Given the description of an element on the screen output the (x, y) to click on. 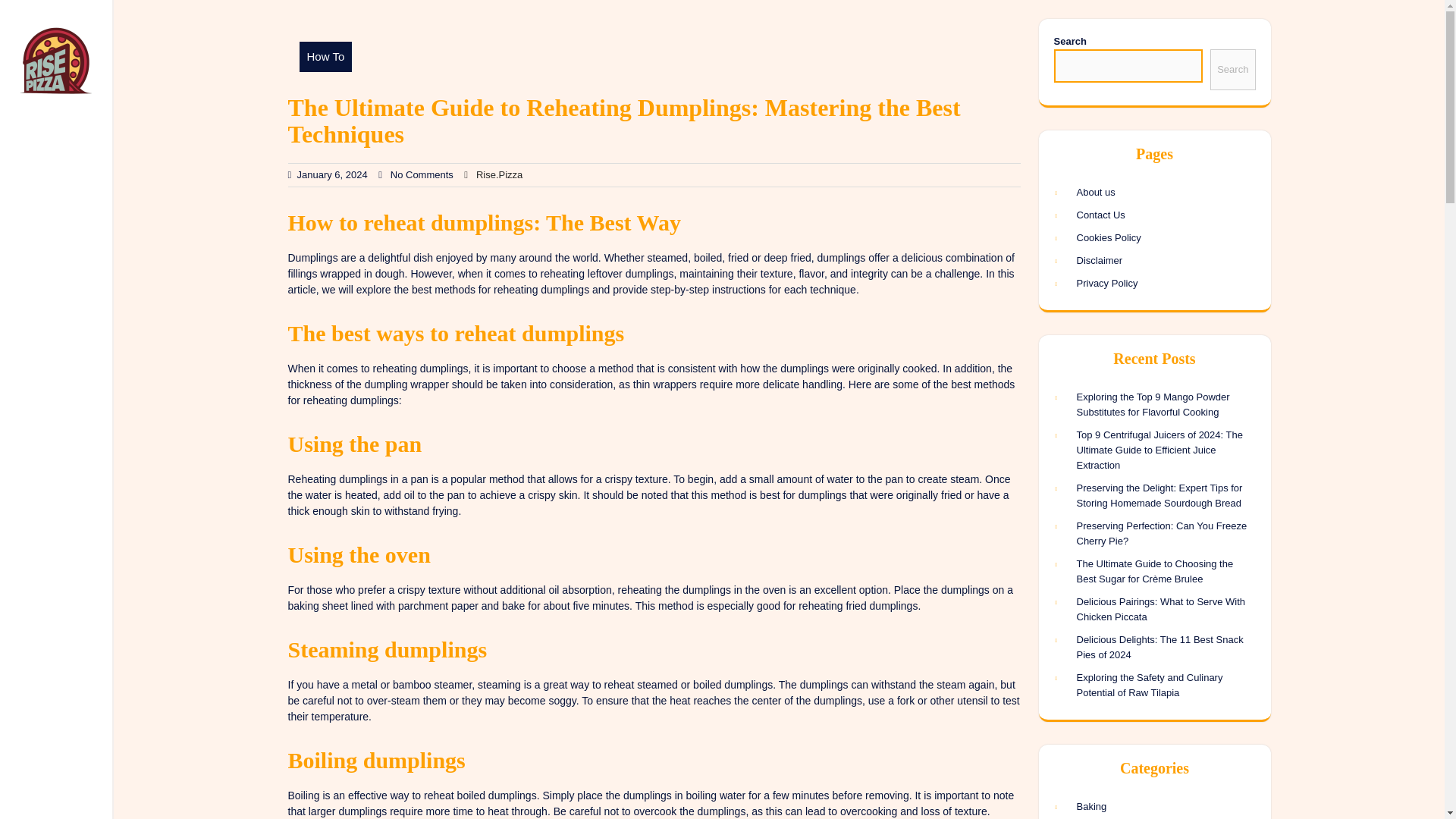
Search (1232, 69)
Cookies Policy (1109, 237)
Disclaimer (1099, 260)
Delicious Pairings: What to Serve With Chicken Piccata (1161, 609)
Preserving Perfection: Can You Freeze Cherry Pie? (1162, 533)
Privacy Policy (1107, 283)
Baking (1151, 806)
Delicious Delights: The 11 Best Snack Pies of 2024 (1160, 646)
